Given the description of an element on the screen output the (x, y) to click on. 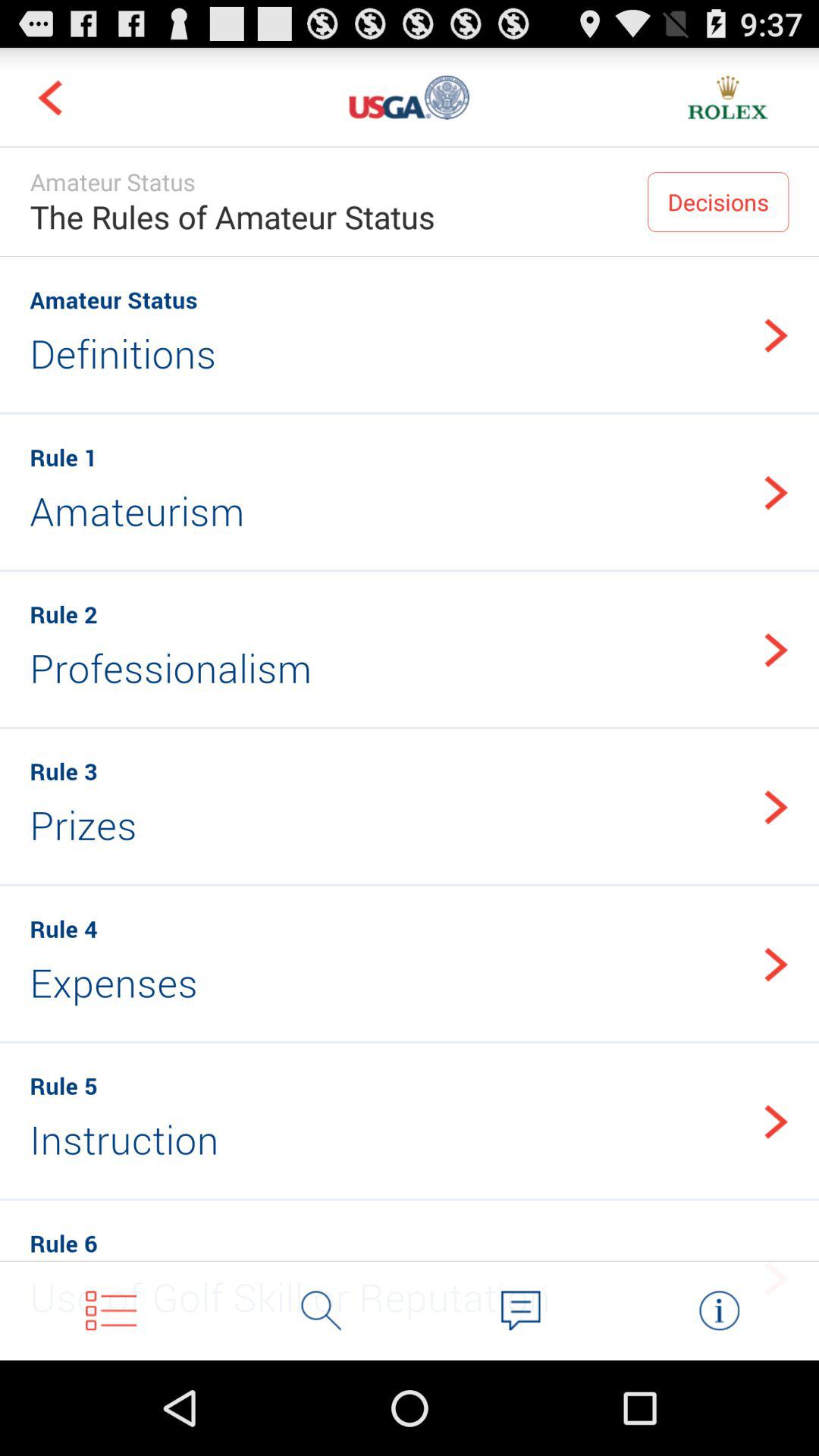
opens the information page (719, 1310)
